Given the description of an element on the screen output the (x, y) to click on. 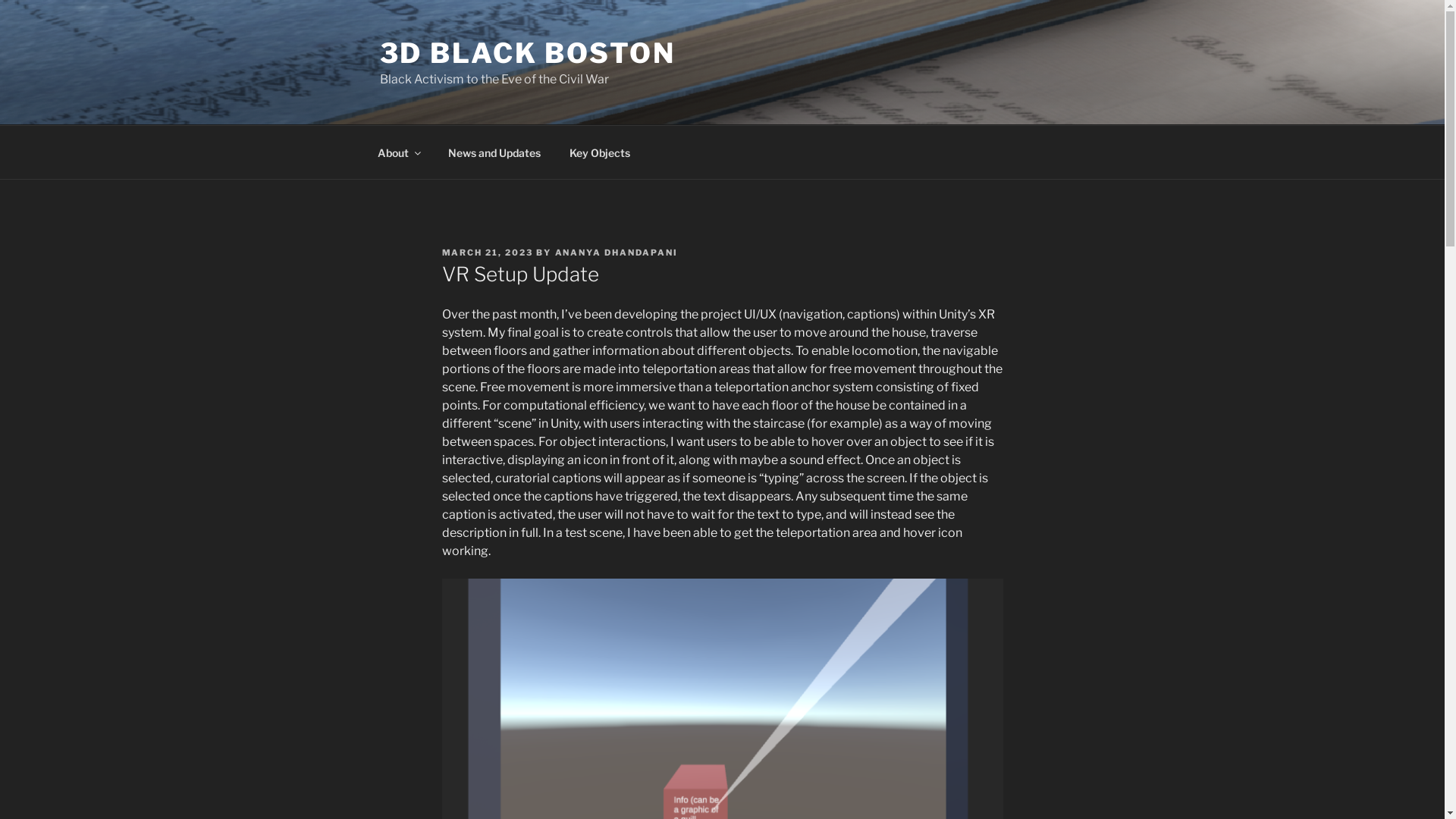
About Element type: text (398, 151)
Key Objects Element type: text (599, 151)
MARCH 21, 2023 Element type: text (487, 252)
ANANYA DHANDAPANI Element type: text (616, 252)
News and Updates Element type: text (494, 151)
3D BLACK BOSTON Element type: text (526, 52)
